Given the description of an element on the screen output the (x, y) to click on. 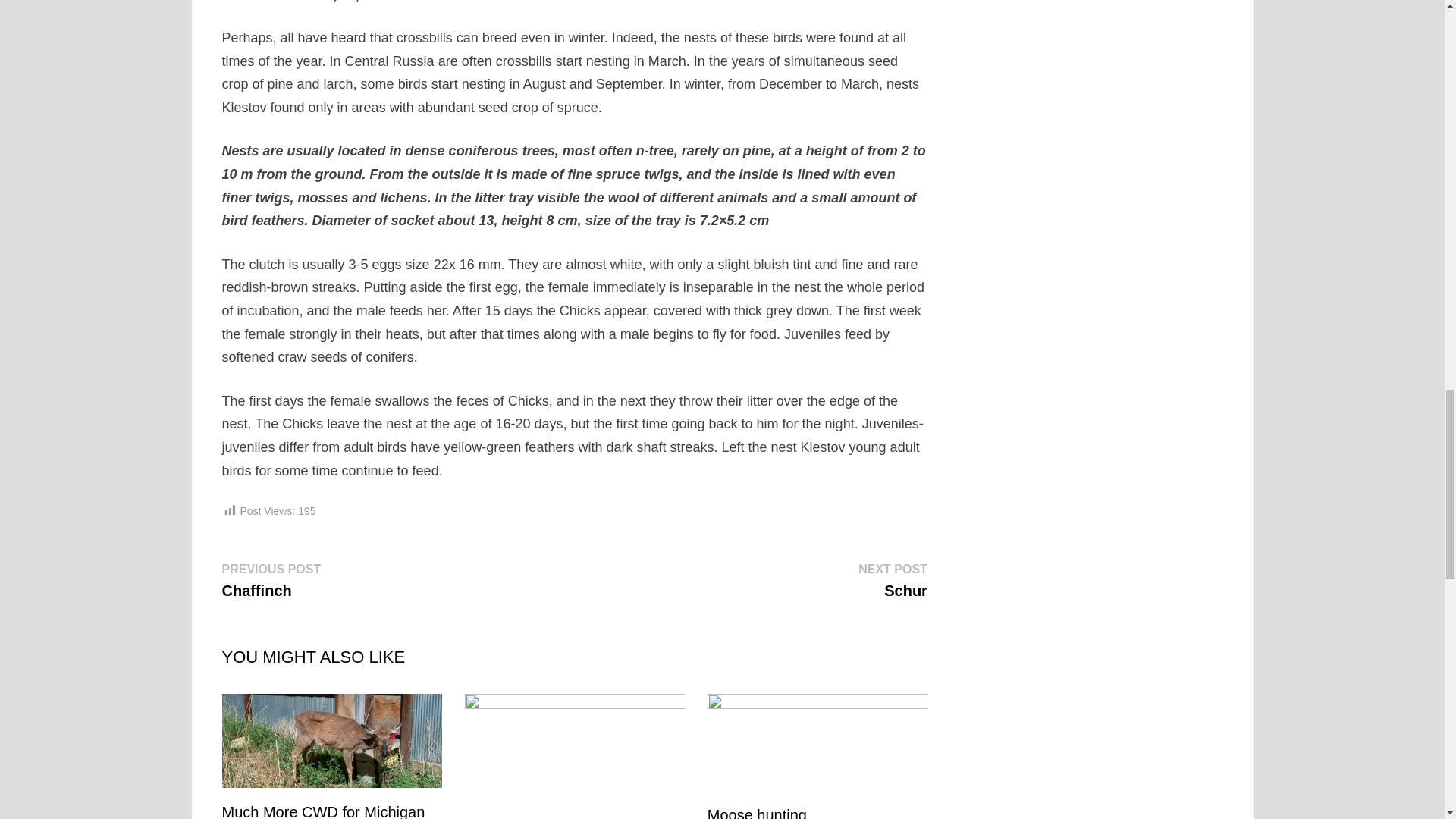
Moose hunting (756, 812)
Much More CWD for Michigan (323, 811)
Moose hunting (270, 579)
Much More CWD for Michigan (756, 812)
